Given the description of an element on the screen output the (x, y) to click on. 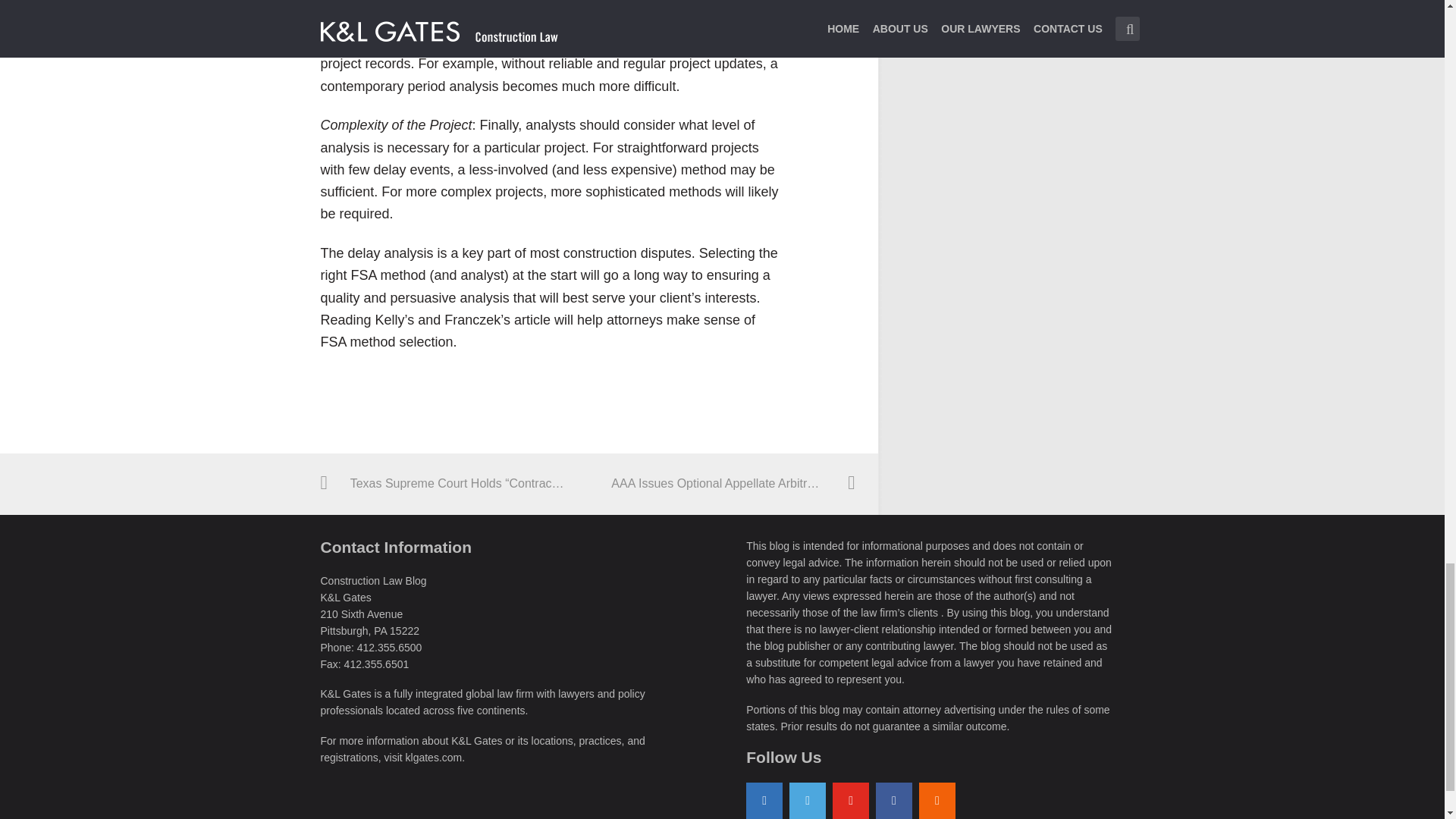
AAA Issues Optional Appellate Arbitration Rules (722, 484)
klgates.com (434, 757)
